Given the description of an element on the screen output the (x, y) to click on. 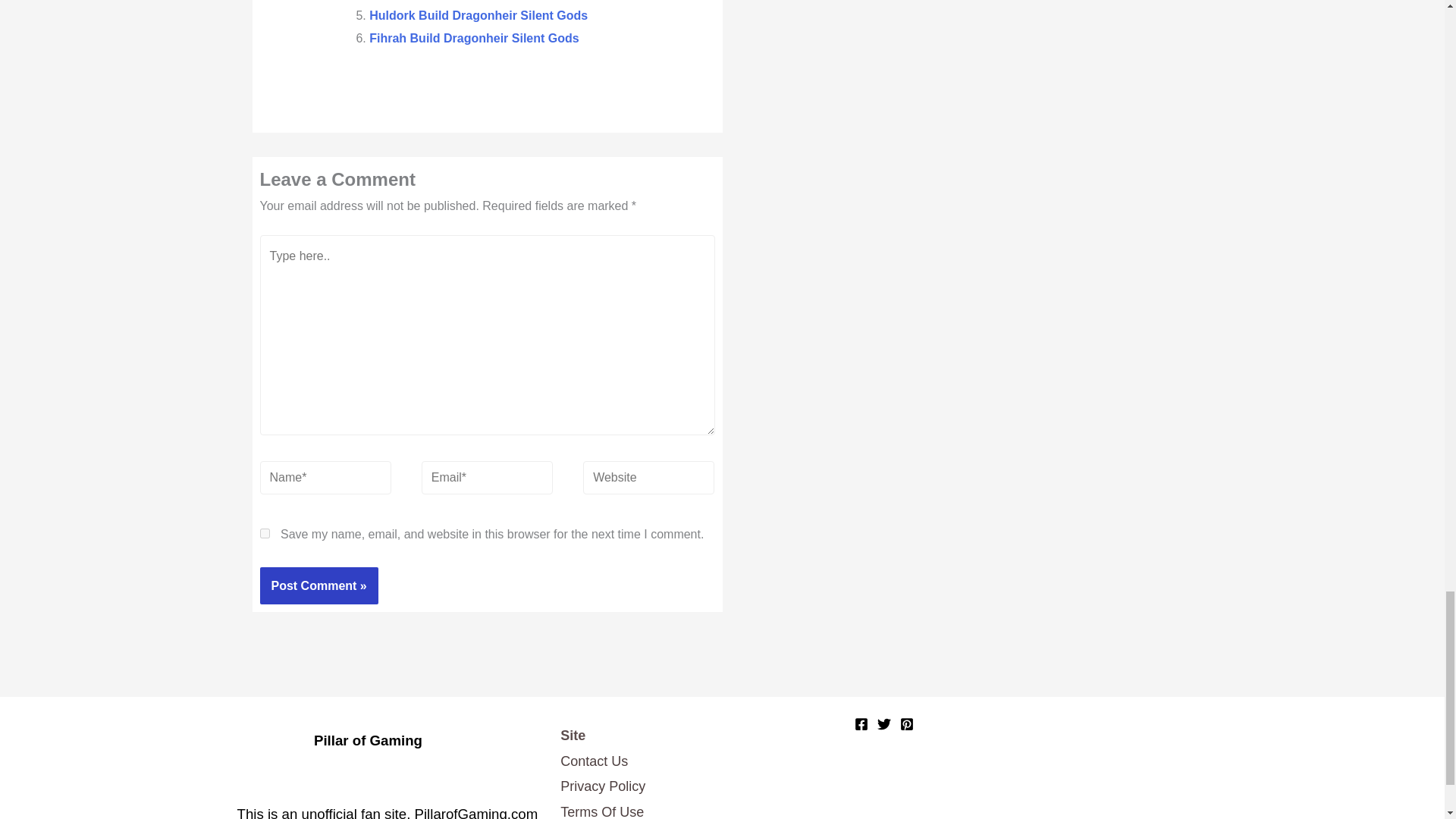
yes (264, 533)
Huldork Build Dragonheir Silent Gods (478, 15)
Fihrah Build Dragonheir Silent Gods (473, 38)
